Given the description of an element on the screen output the (x, y) to click on. 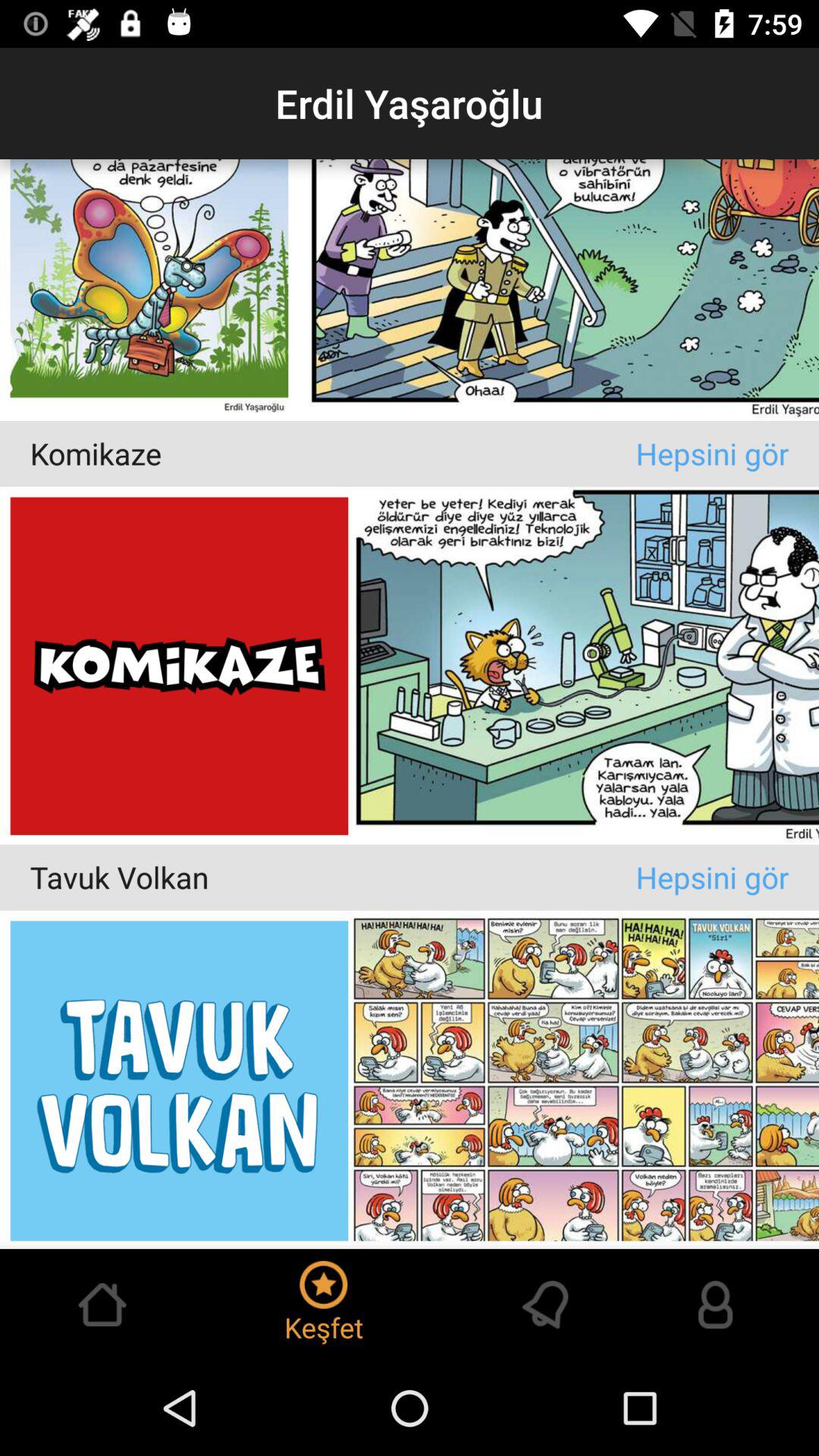
scroll until the komikaze icon (332, 453)
